Given the description of an element on the screen output the (x, y) to click on. 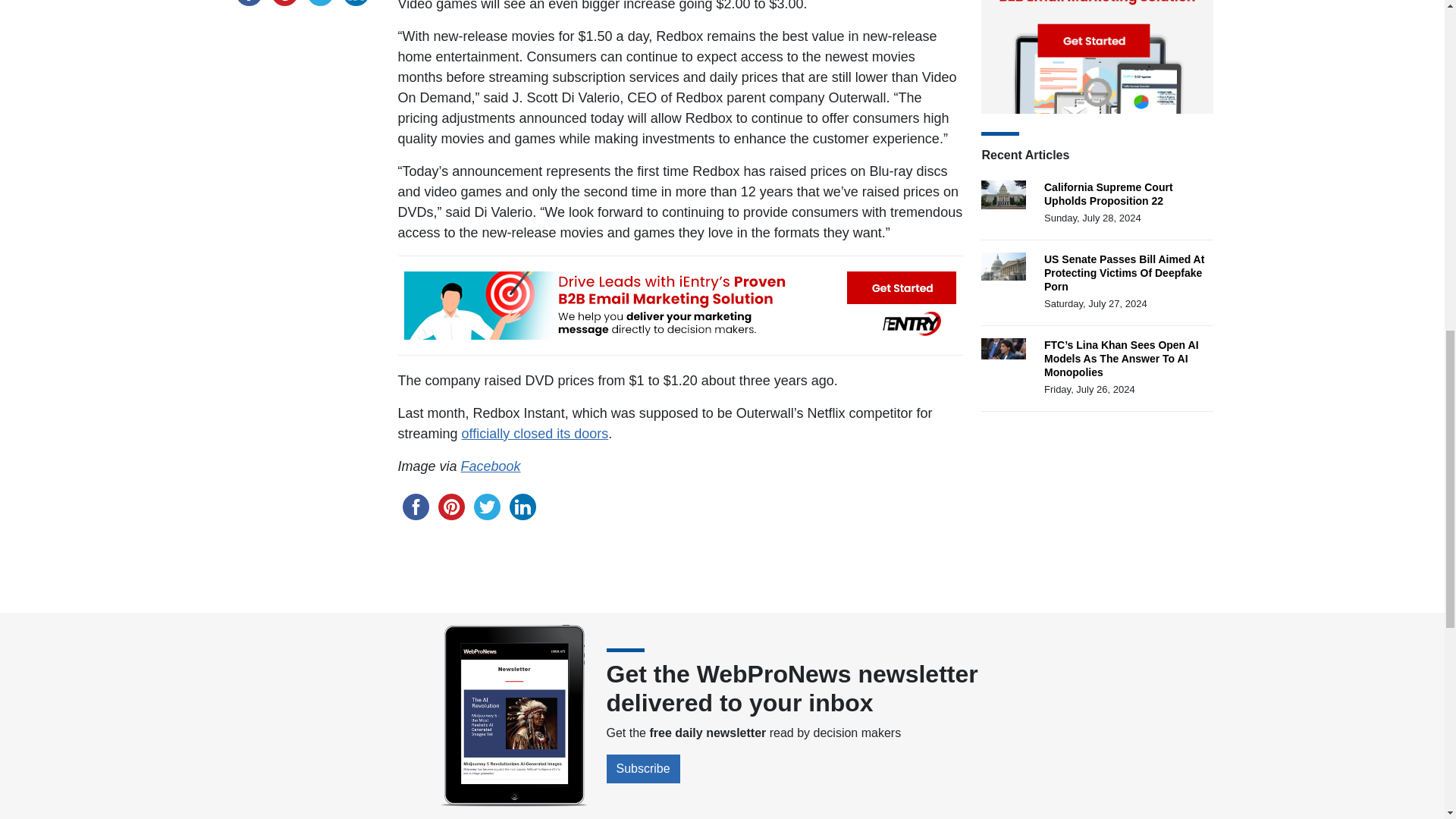
linkedin (355, 4)
twitter (319, 4)
pinterest (450, 506)
pinterest (284, 4)
facebook (248, 4)
twitter (485, 506)
facebook (414, 506)
